Given the description of an element on the screen output the (x, y) to click on. 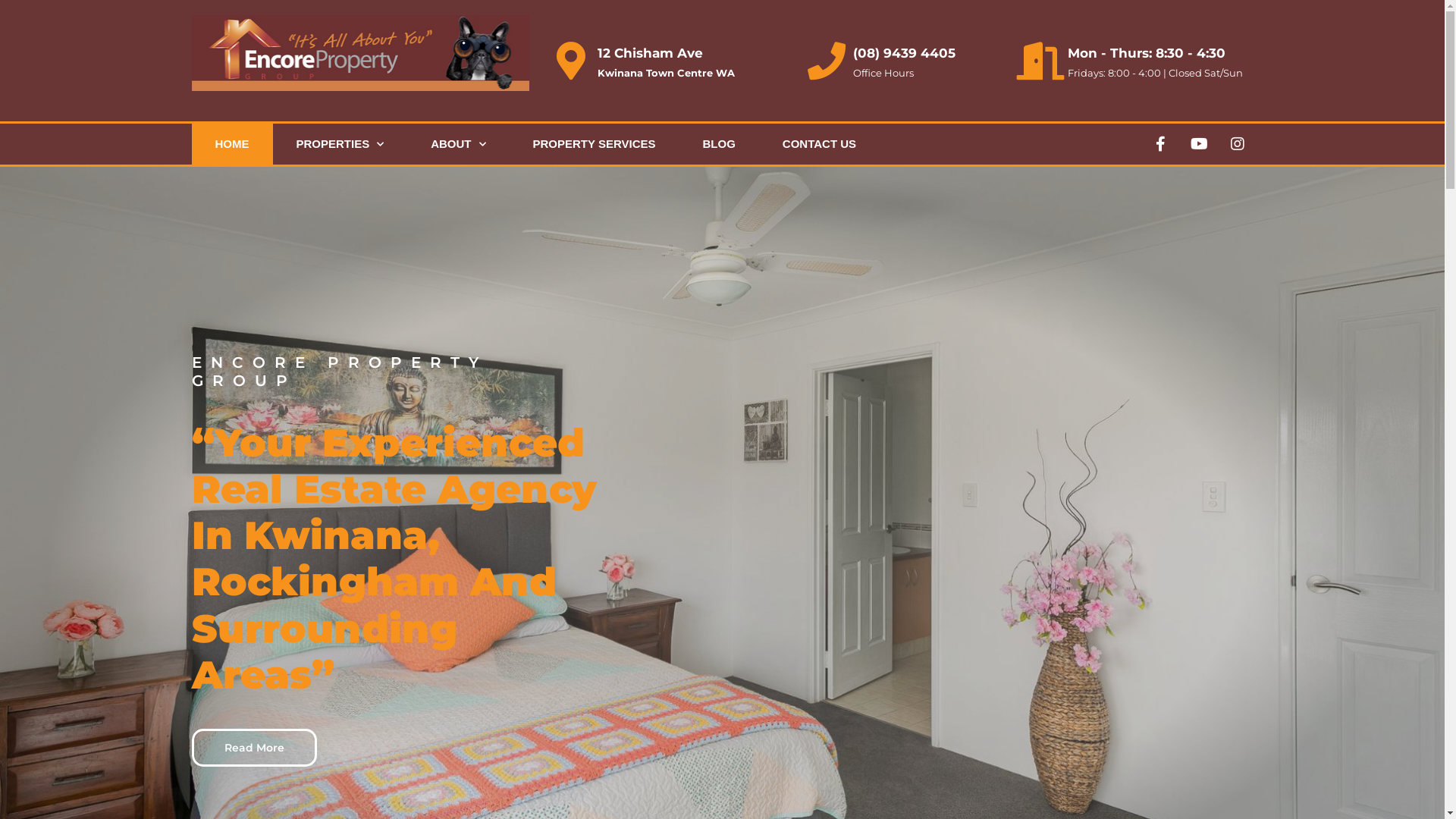
BLOG Element type: text (719, 143)
Read More Element type: text (253, 747)
PROPERTIES Element type: text (340, 143)
CONTACT US Element type: text (819, 143)
PROPERTY SERVICES Element type: text (594, 143)
ABOUT Element type: text (457, 143)
HOME Element type: text (231, 143)
